Given the description of an element on the screen output the (x, y) to click on. 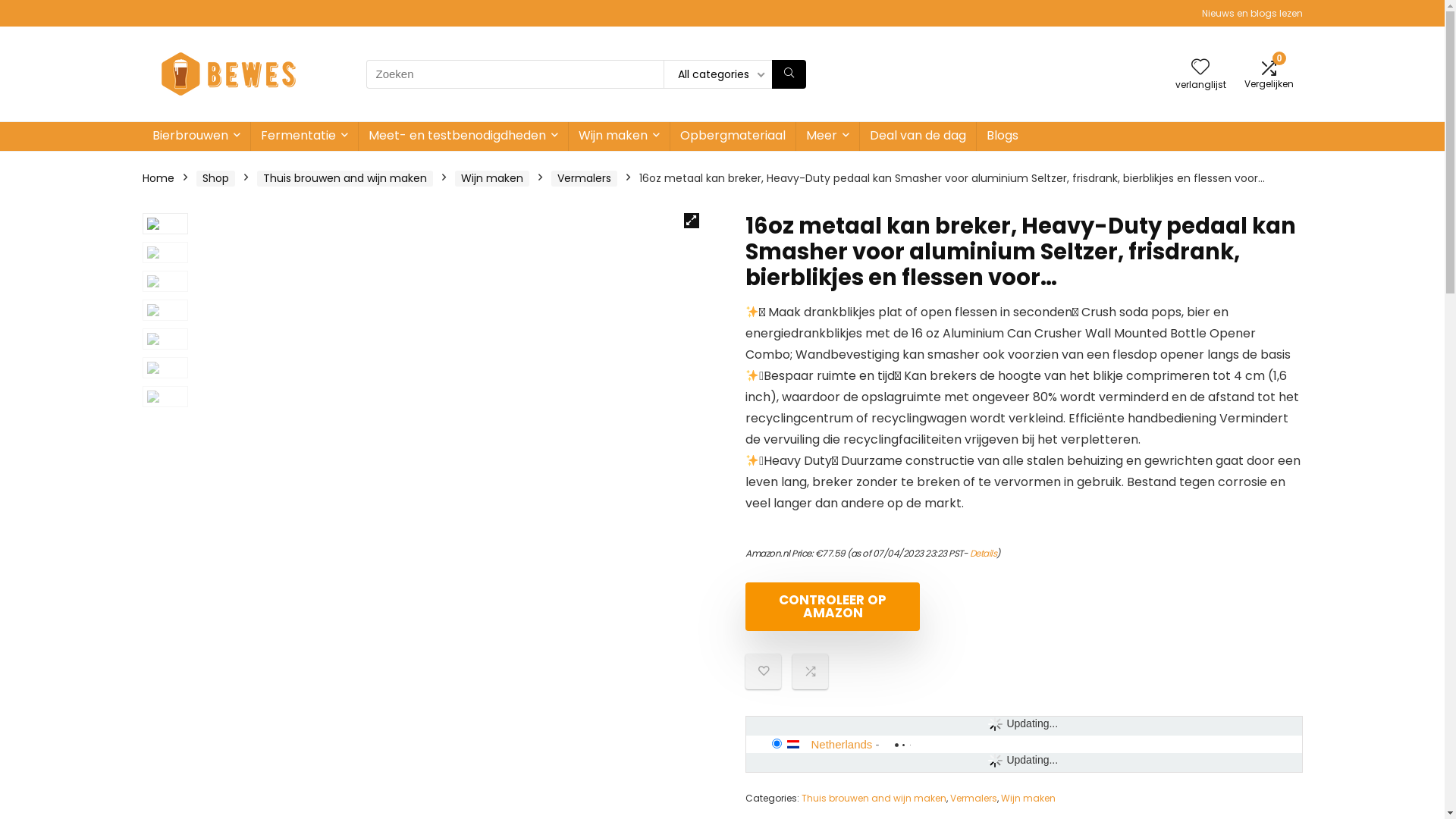
Blogs Element type: text (1002, 136)
Vermalers Element type: text (583, 178)
Meet- en testbenodigdheden Element type: text (462, 136)
Opbergmateriaal Element type: text (732, 136)
Wijn maken Element type: text (1028, 797)
Netherlands Element type: hover (798, 743)
Home Element type: text (158, 177)
Wijn maken Element type: text (492, 178)
Shop Element type: text (214, 178)
Netherlands Element type: text (841, 743)
Deal van de dag Element type: text (917, 136)
Bierbrouwen Element type: text (196, 136)
Details Element type: text (983, 552)
Thuis brouwen and wijn maken Element type: text (873, 797)
Meer Element type: text (827, 136)
Wijn maken Element type: text (618, 136)
Vermalers Element type: text (973, 797)
CONTROLEER OP AMAZON Element type: text (832, 606)
Nieuws en blogs lezen Element type: text (1251, 12)
Fermentatie Element type: text (303, 136)
Thuis brouwen and wijn maken Element type: text (344, 178)
